Given the description of an element on the screen output the (x, y) to click on. 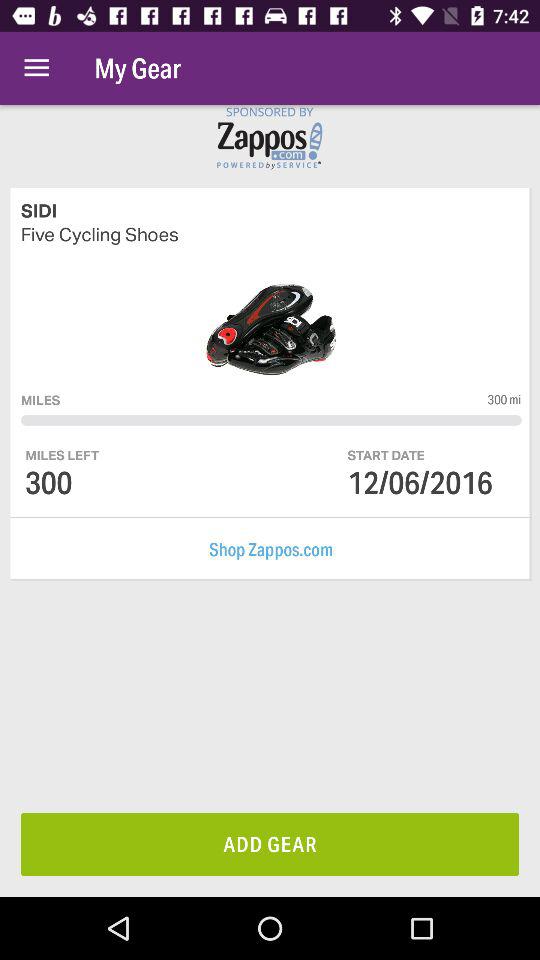
swipe to sidi (271, 210)
